Given the description of an element on the screen output the (x, y) to click on. 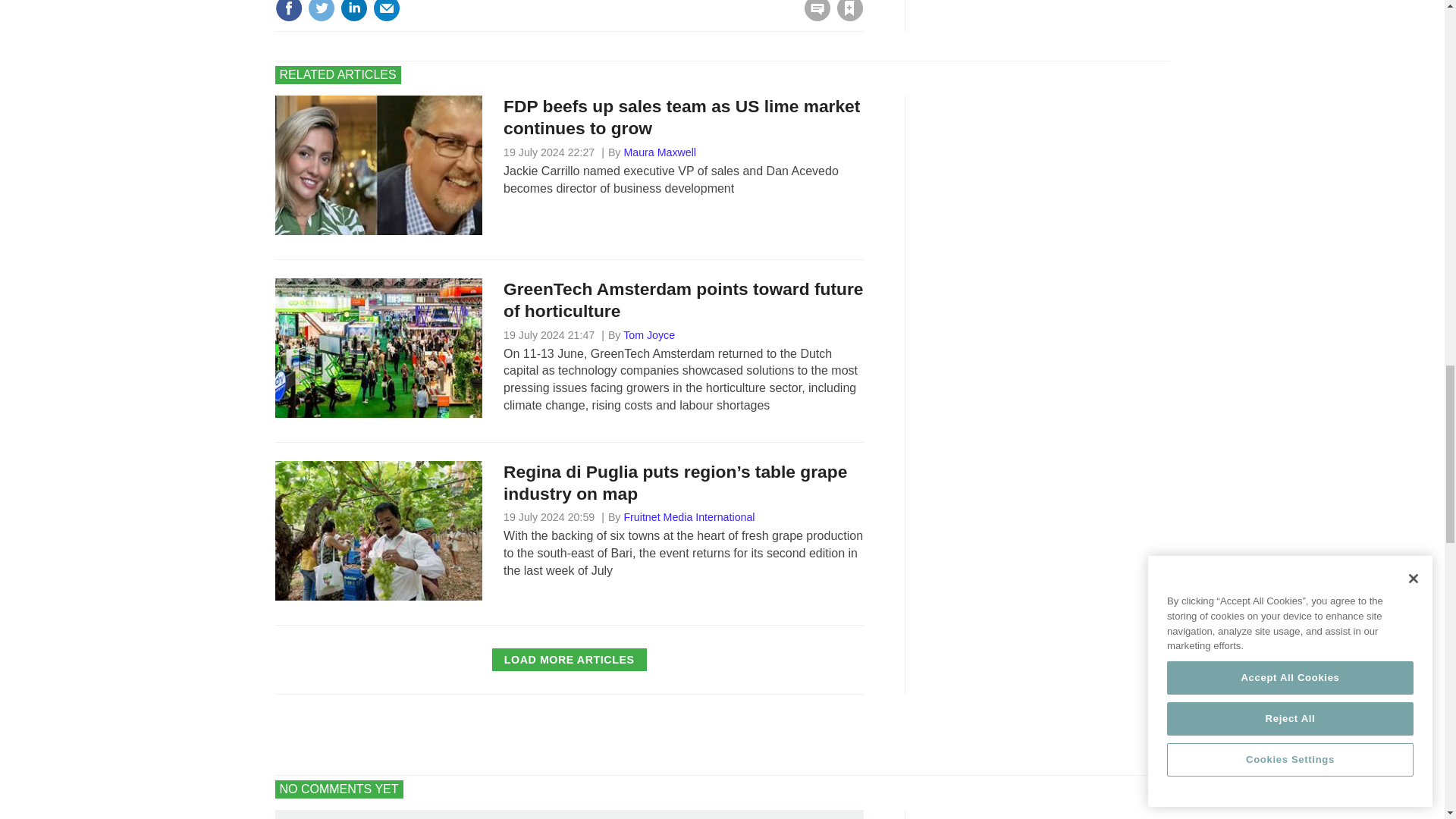
Share this on Facebook (288, 11)
Email this article (386, 11)
Share this on Twitter (320, 11)
No comments (812, 17)
Share this on Linked in (352, 11)
